Given the description of an element on the screen output the (x, y) to click on. 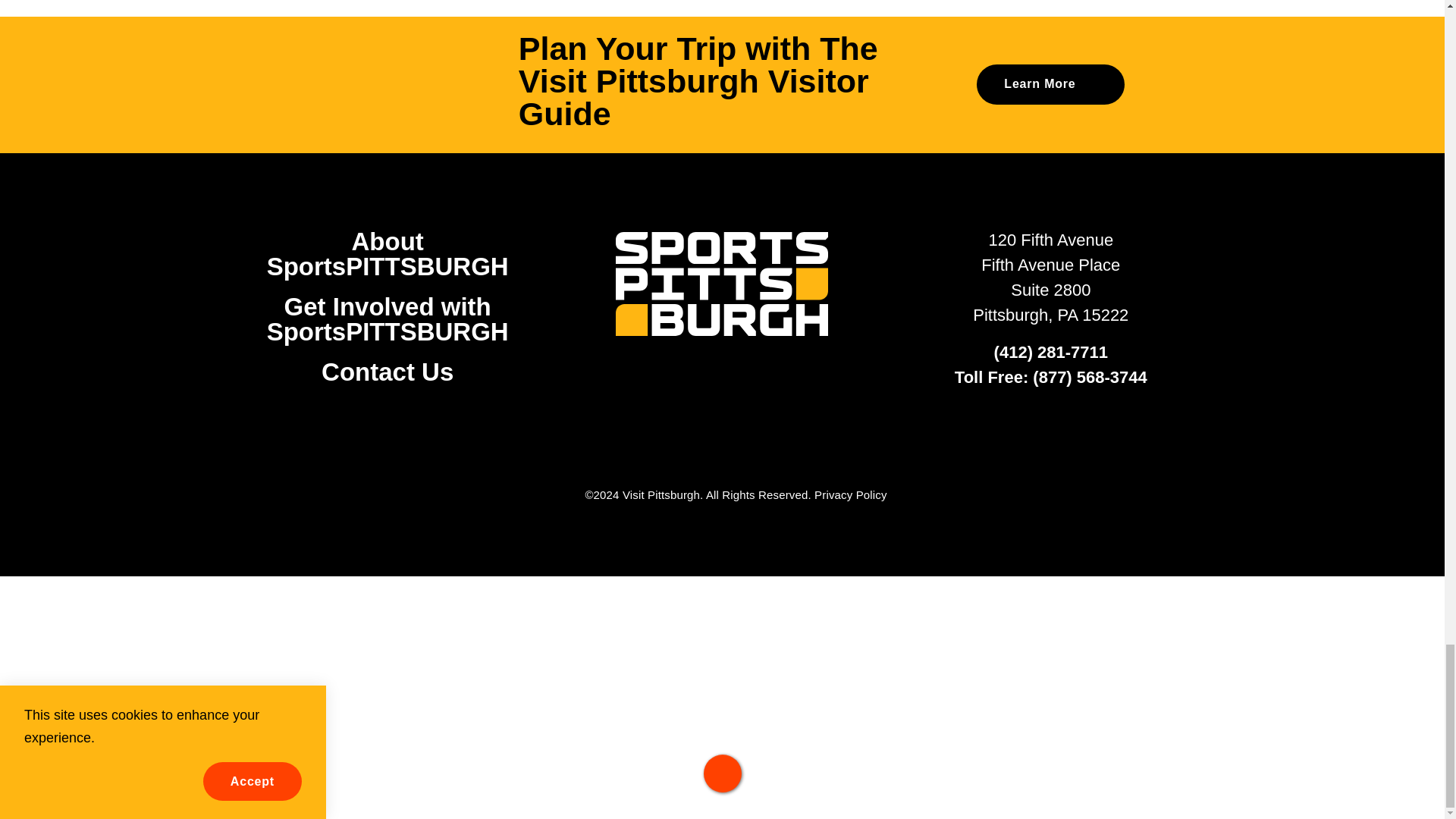
Contact Us (386, 371)
Get Involved with SportsPITTSBURGH (387, 318)
Learn More (1050, 84)
Plan Your Trip with The Visit Pittsburgh Visitor Guide (721, 84)
Privacy Policy (849, 494)
About SportsPITTSBURGH (387, 253)
